Given the description of an element on the screen output the (x, y) to click on. 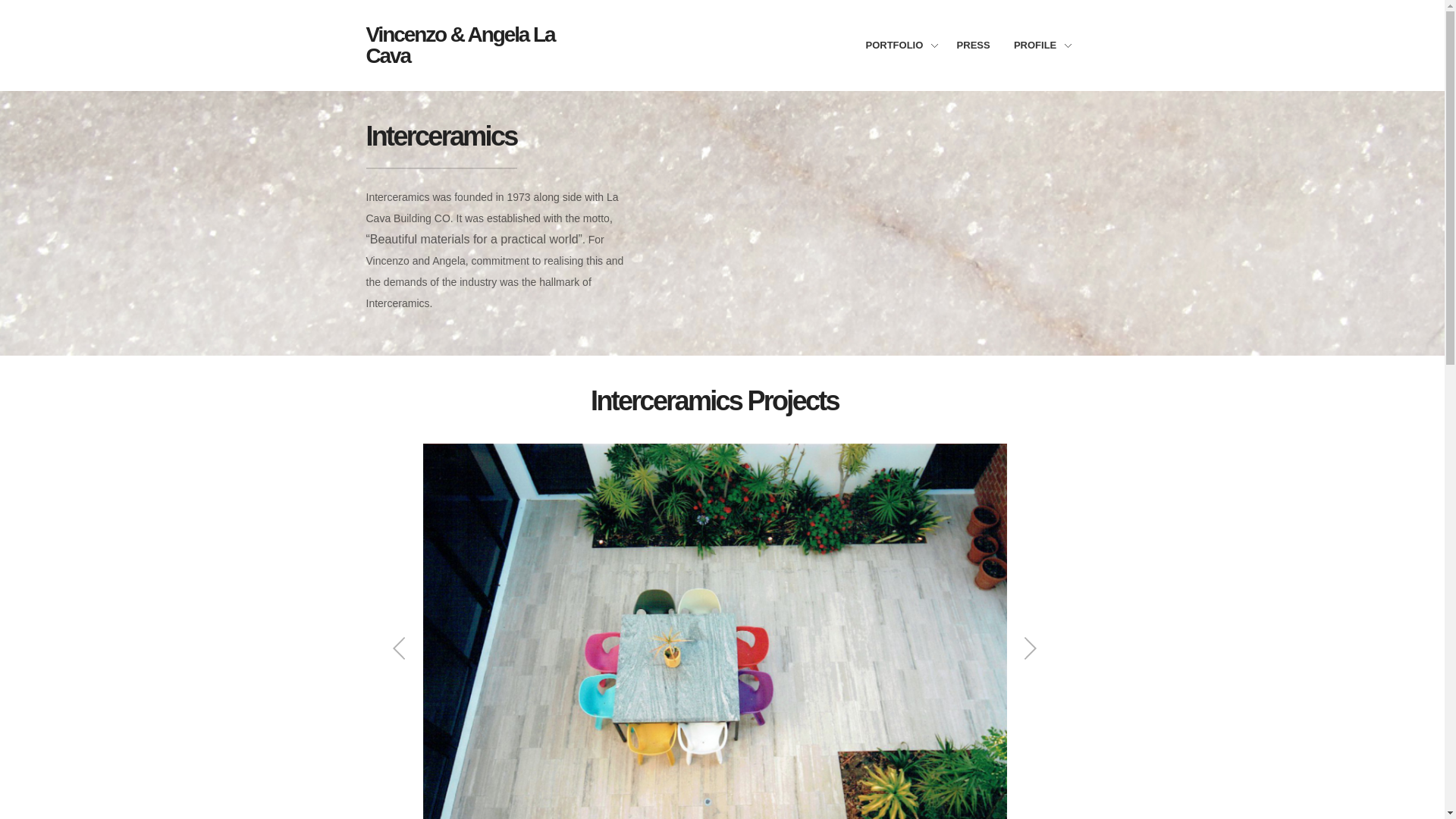
Prev Element type: text (399, 648)
Vincenzo & Angela La Cava Element type: text (471, 45)
PRESS Element type: text (979, 45)
Next Element type: text (1029, 648)
